Given the description of an element on the screen output the (x, y) to click on. 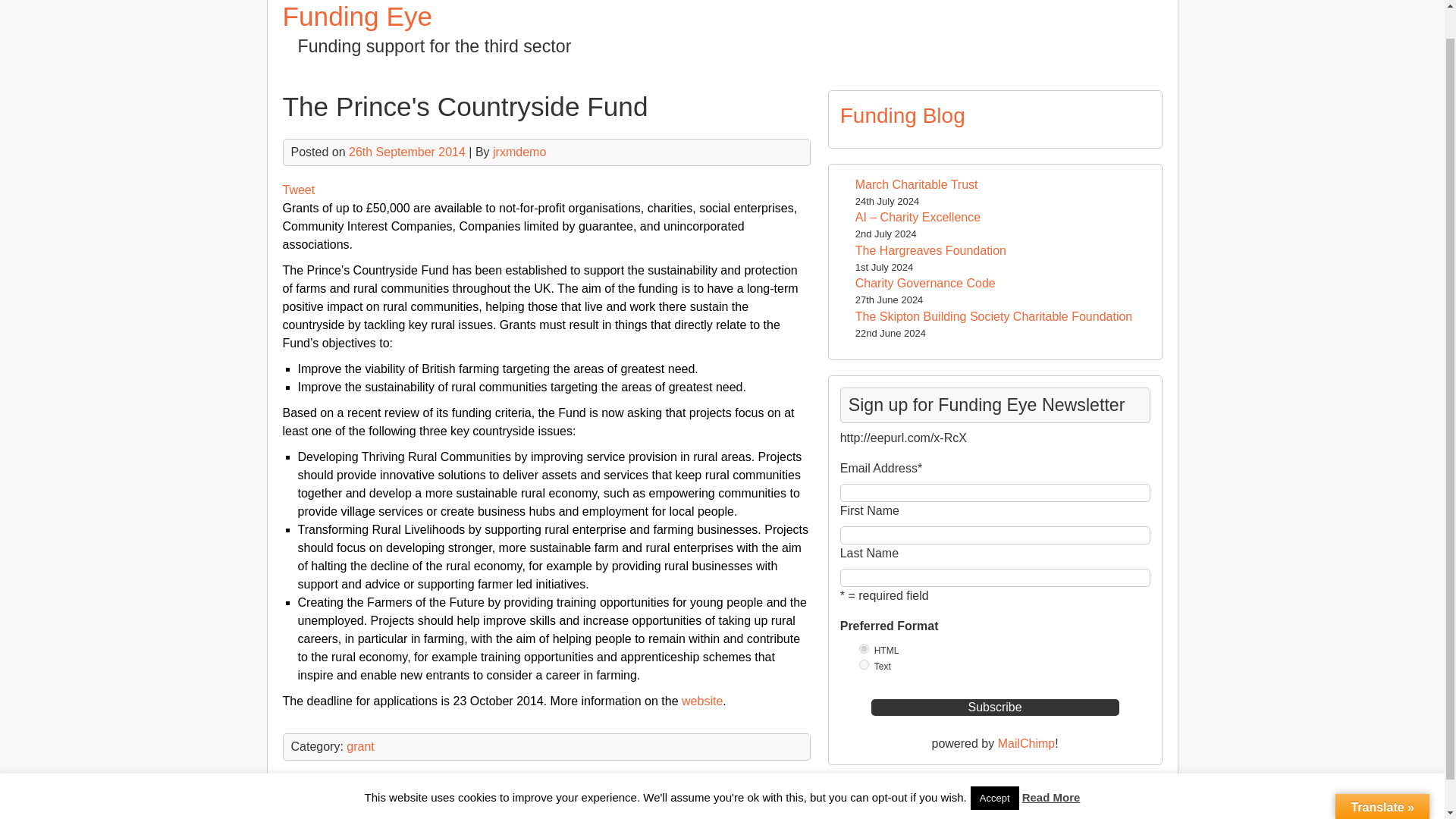
html (864, 648)
website (701, 700)
Funding Eye (764, 803)
grant (360, 746)
Funding Eye (357, 16)
Funding Eye (357, 16)
text (864, 664)
March Charitable Trust (917, 184)
Charity Governance Code (925, 282)
Subscribe (994, 707)
Tweet (298, 189)
Read More (1051, 766)
Funding Blog (902, 115)
The Skipton Building Society Charitable Foundation (994, 316)
Accept (995, 766)
